Given the description of an element on the screen output the (x, y) to click on. 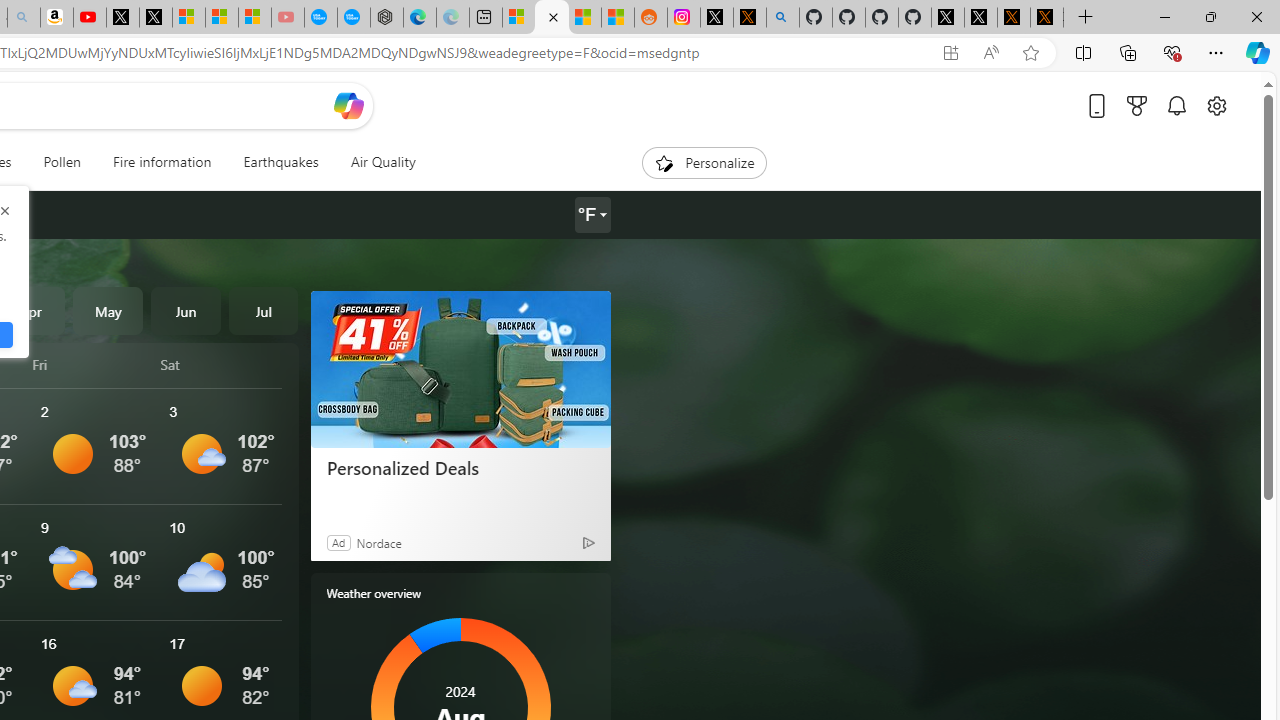
May (107, 310)
Weather settings (591, 215)
Air Quality (375, 162)
Fire information (162, 162)
Jul (263, 310)
github - Search (782, 17)
Pollen (61, 162)
Jun (186, 310)
Air Quality (382, 162)
